Given the description of an element on the screen output the (x, y) to click on. 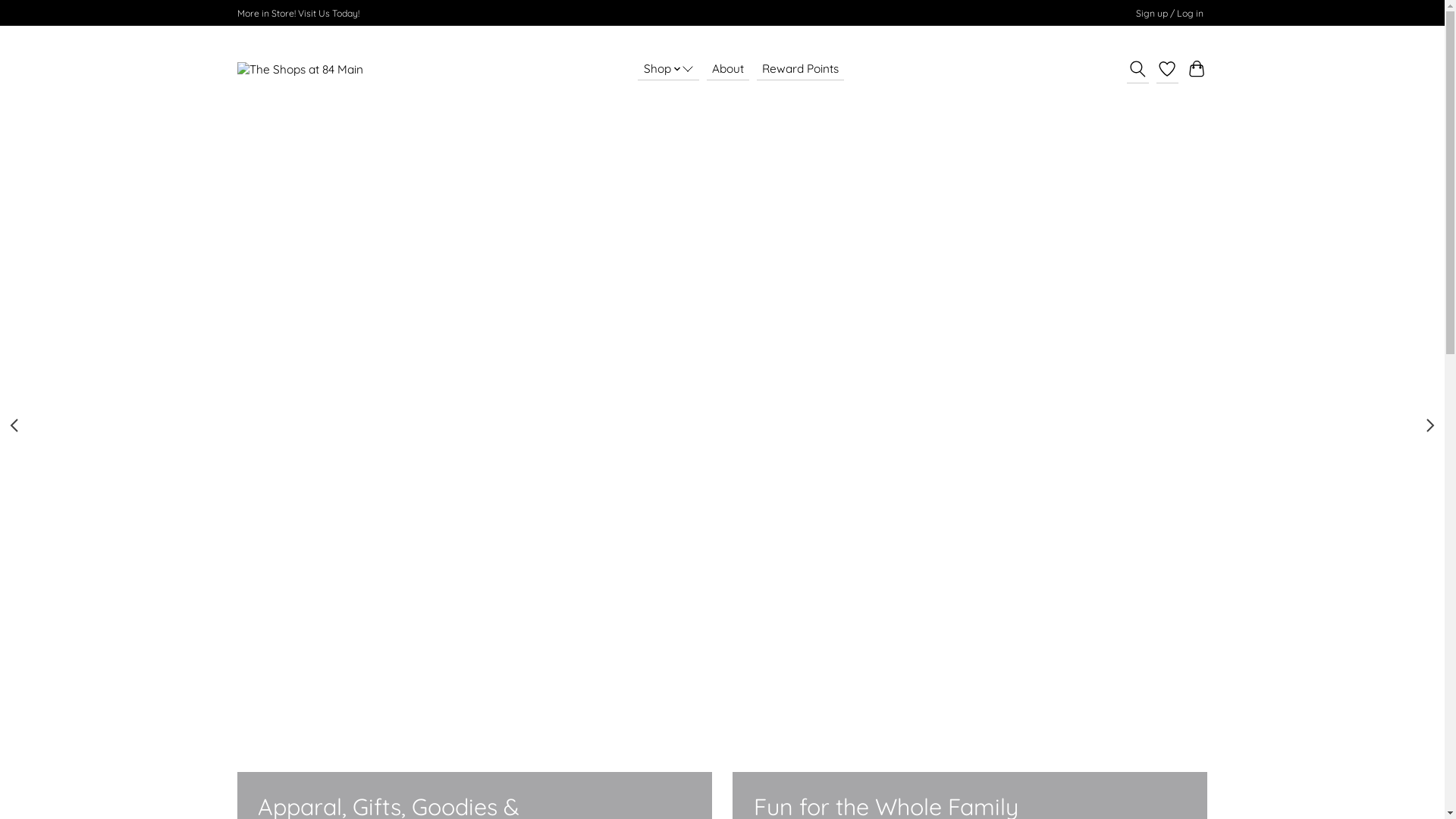
The Shops at 84 Main Element type: hover (299, 68)
Reward Points Element type: text (800, 68)
Shop Element type: text (668, 68)
Sign up / Log in Element type: text (1169, 12)
About Element type: text (727, 68)
